Given the description of an element on the screen output the (x, y) to click on. 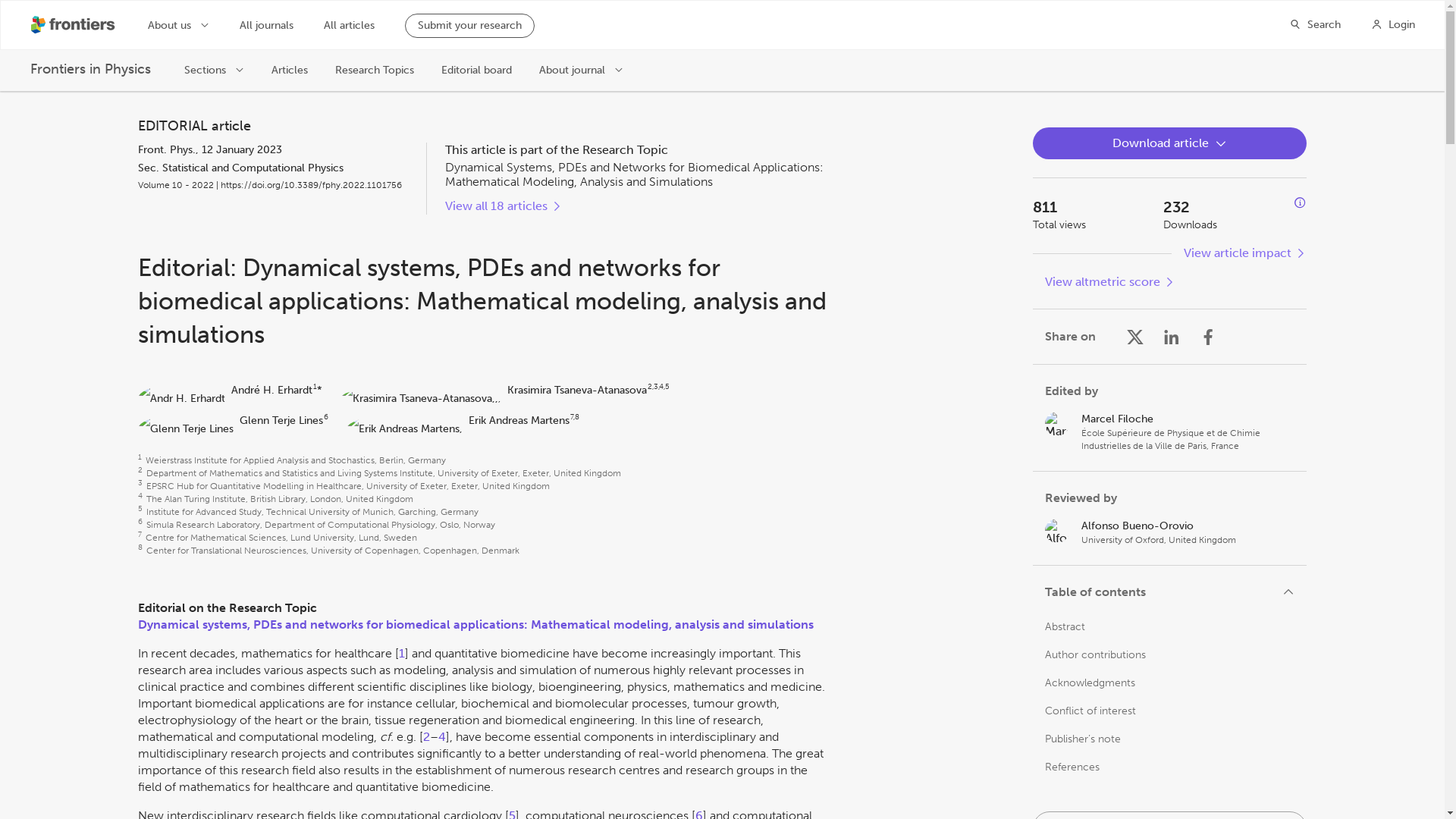
Login (1393, 24)
About us (178, 24)
Share on Linkedin (1170, 336)
Submit your research (469, 25)
Share on X (1134, 336)
All journals (267, 25)
Share on Facebook (1207, 336)
Search (1314, 24)
All articles (348, 25)
